Given the description of an element on the screen output the (x, y) to click on. 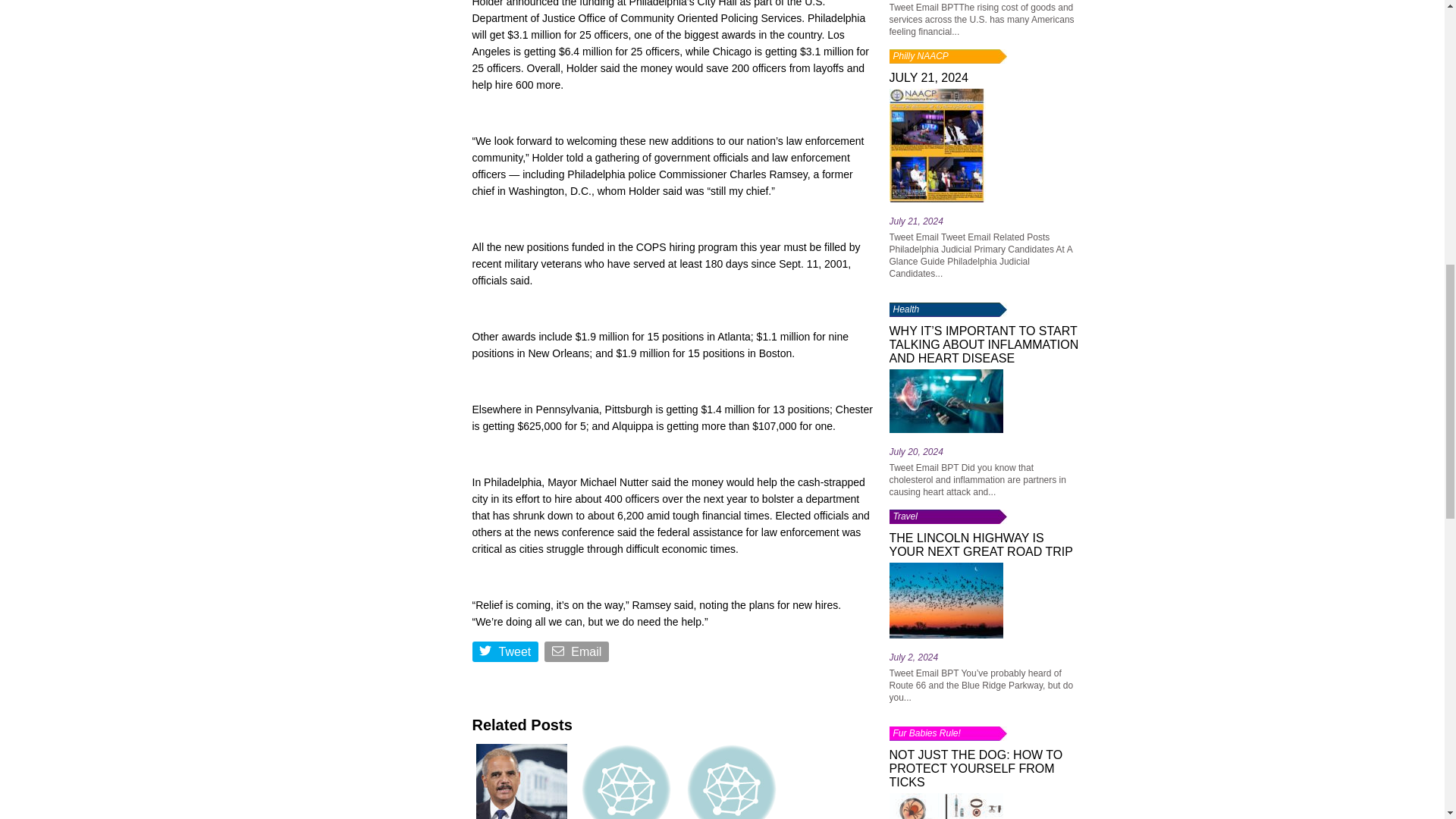
Tweet (505, 654)
Email (577, 654)
Email (577, 654)
White House: Holder resigning as attorney general (520, 779)
Tweet (505, 654)
White House: Holder resigning as attorney general (520, 779)
